Given the description of an element on the screen output the (x, y) to click on. 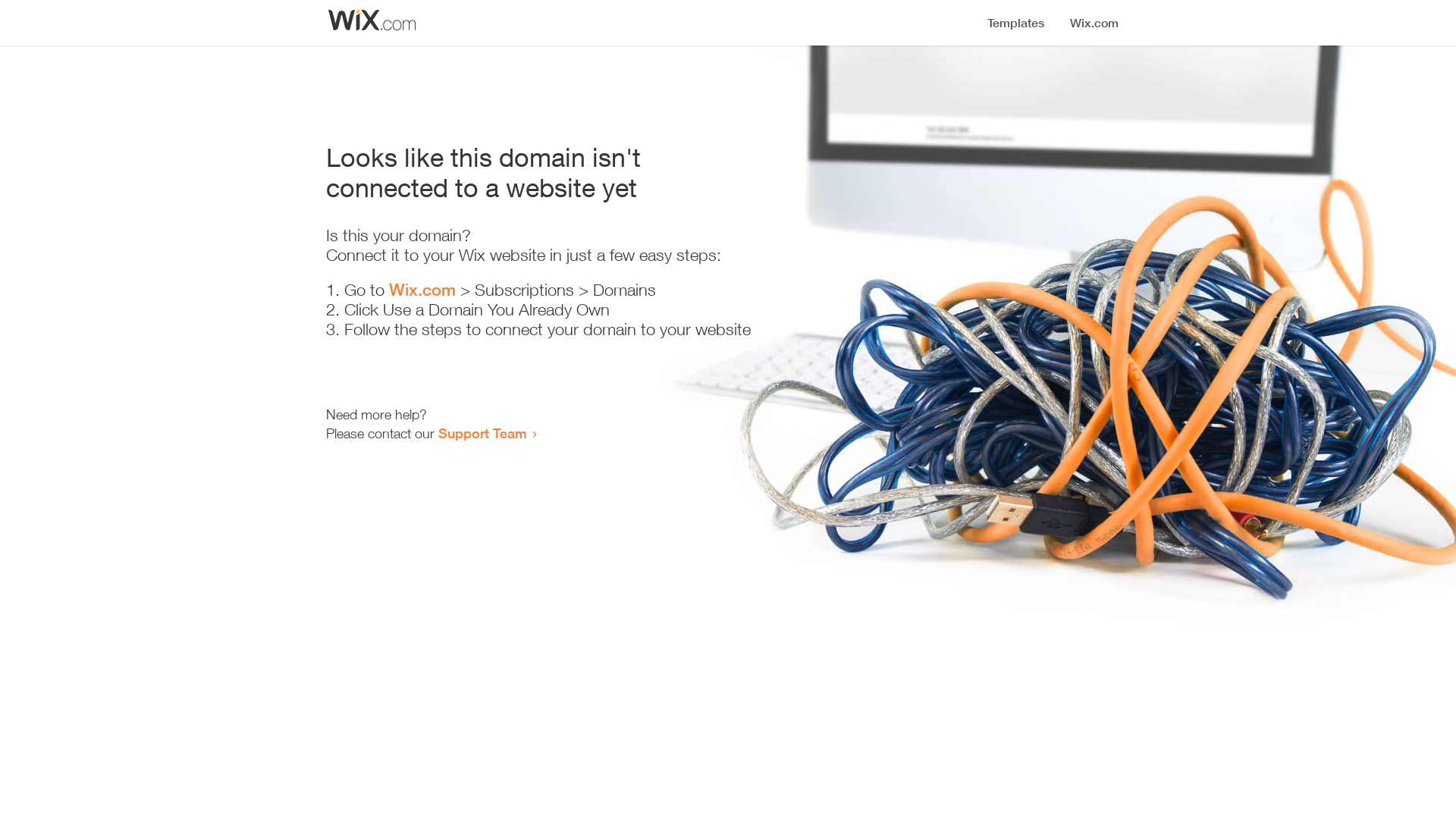
Support Team Element type: text (482, 432)
Wix.com Element type: text (422, 289)
